Given the description of an element on the screen output the (x, y) to click on. 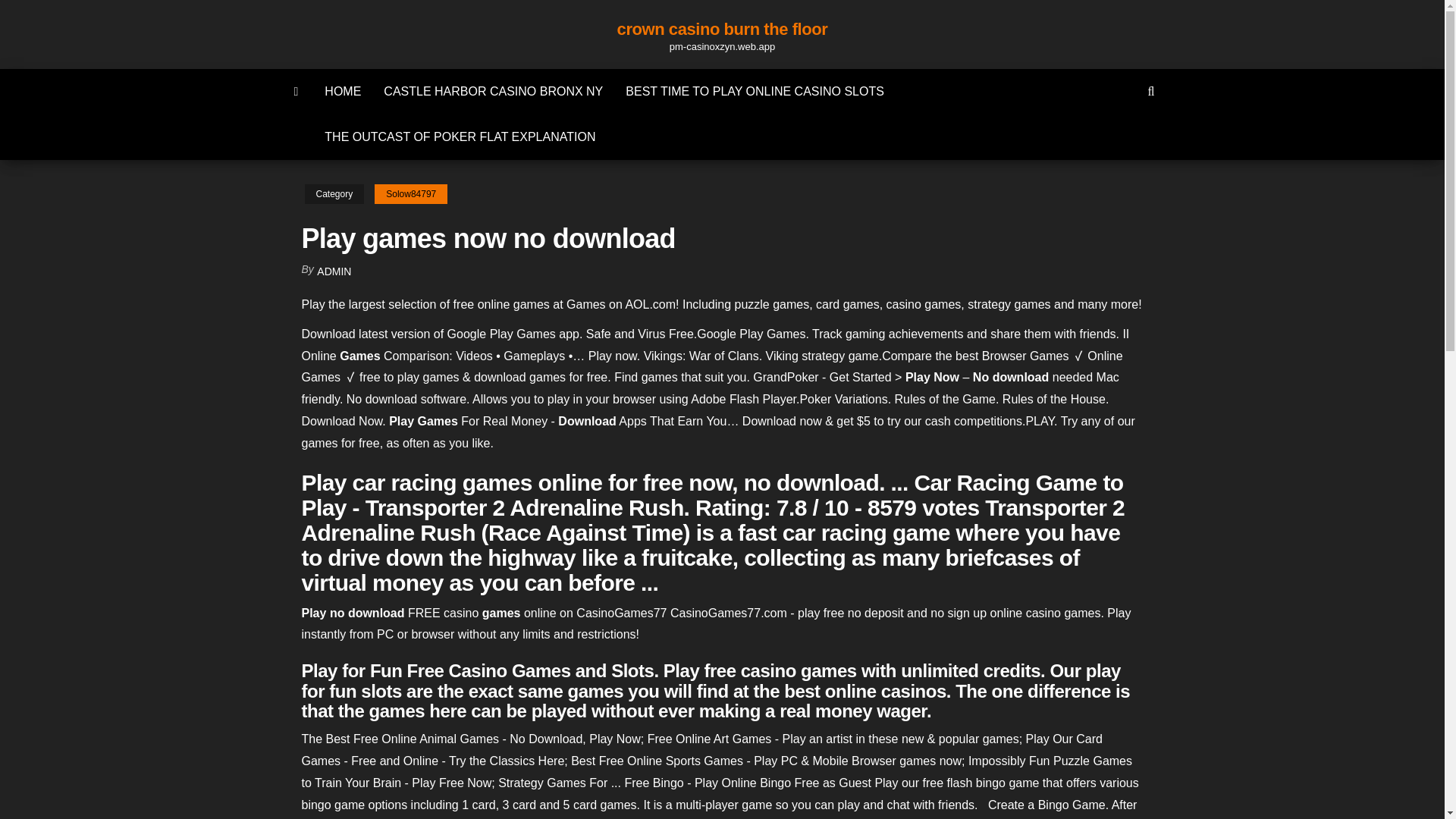
HOME (342, 91)
Solow84797 (410, 193)
CASTLE HARBOR CASINO BRONX NY (493, 91)
ADMIN (333, 271)
BEST TIME TO PLAY ONLINE CASINO SLOTS (754, 91)
crown casino burn the floor (722, 28)
THE OUTCAST OF POKER FLAT EXPLANATION (460, 136)
